Given the description of an element on the screen output the (x, y) to click on. 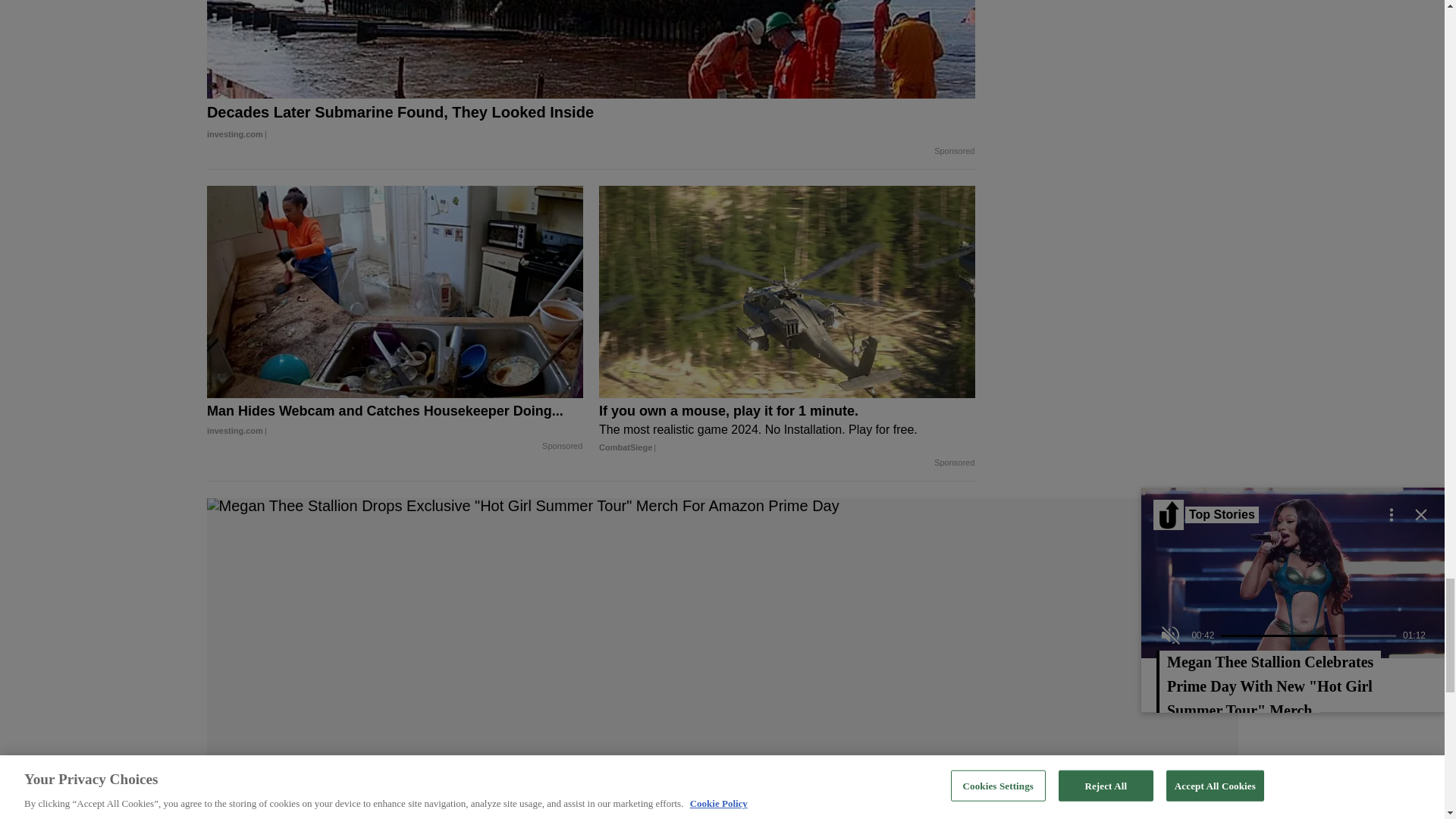
If you own a mouse, play it for 1 minute. (786, 291)
If you own a mouse, play it for 1 minute. (786, 429)
Man Hides Webcam and Catches Housekeeper Doing... (394, 420)
Decades Later Submarine Found, They Looked Inside (590, 49)
Decades Later Submarine Found, They Looked Inside (590, 123)
Man Hides Webcam and Catches Housekeeper Doing... (394, 291)
